Given the description of an element on the screen output the (x, y) to click on. 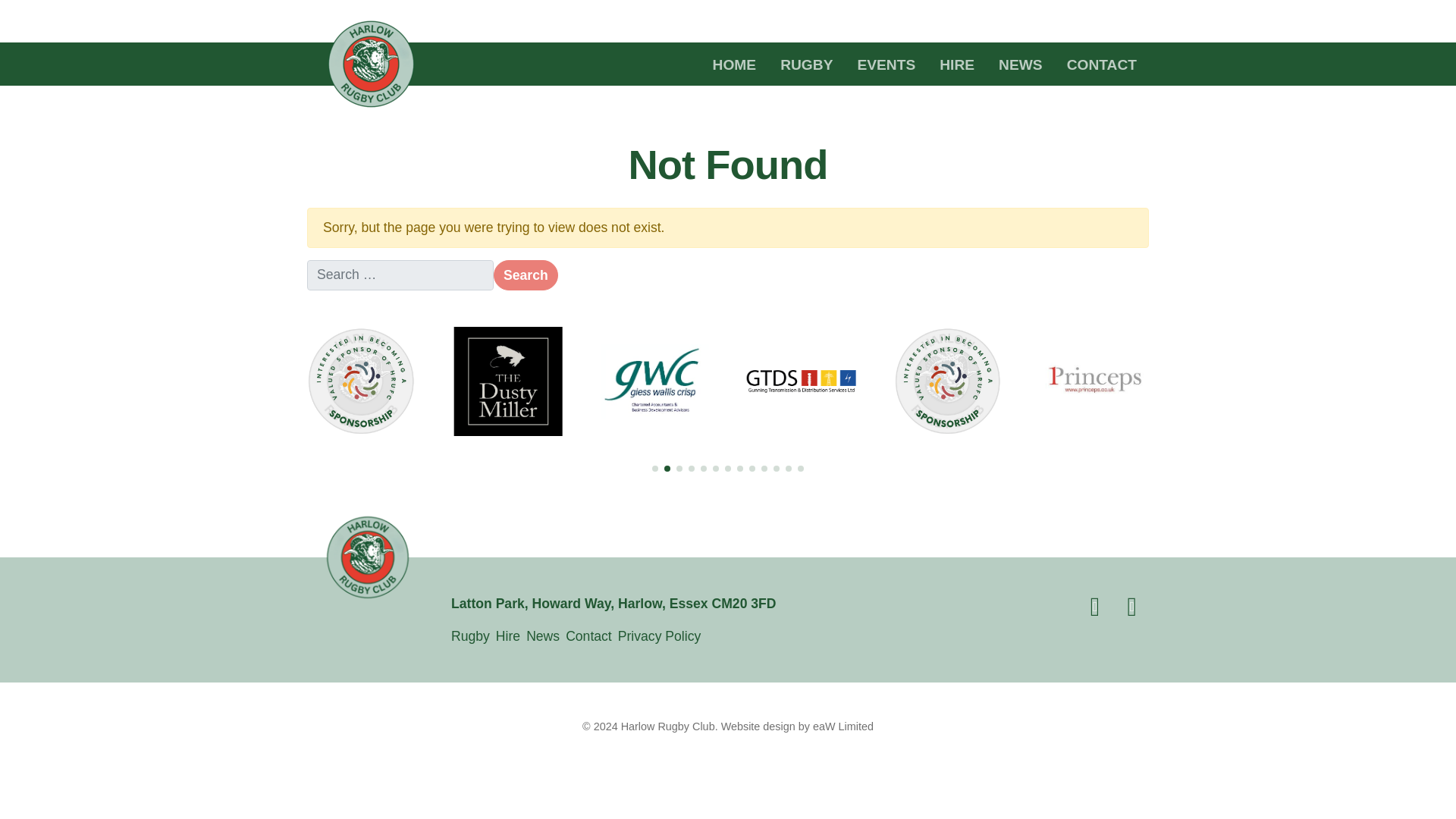
Privacy Policy (659, 636)
Events (885, 63)
HOME (734, 63)
Privacy Policy (659, 636)
Hire (507, 636)
CONTACT (1101, 63)
HIRE (957, 63)
NEWS (1020, 63)
News (542, 636)
Contact (588, 636)
Search (525, 275)
Contact (588, 636)
Search (525, 275)
News (1020, 63)
HOME (734, 63)
